Given the description of an element on the screen output the (x, y) to click on. 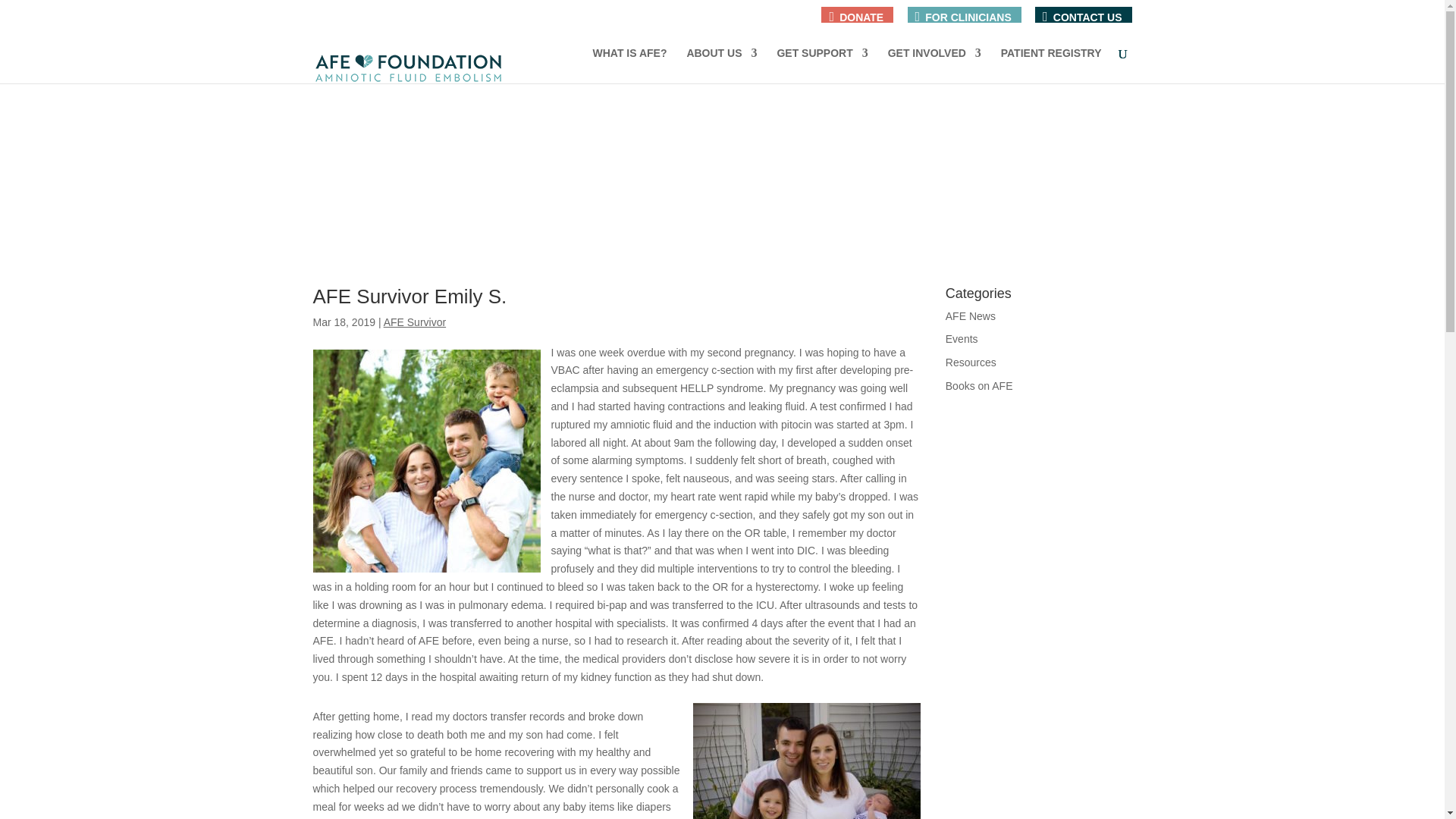
FOR CLINICIANS (963, 22)
GET SUPPORT (821, 65)
DONATE (855, 22)
WHAT IS AFE? (629, 65)
Events (961, 338)
GET INVOLVED (934, 65)
ABOUT US (721, 65)
AFE News (969, 316)
AFE Survivor (414, 322)
CONTACT US (1081, 22)
